Given the description of an element on the screen output the (x, y) to click on. 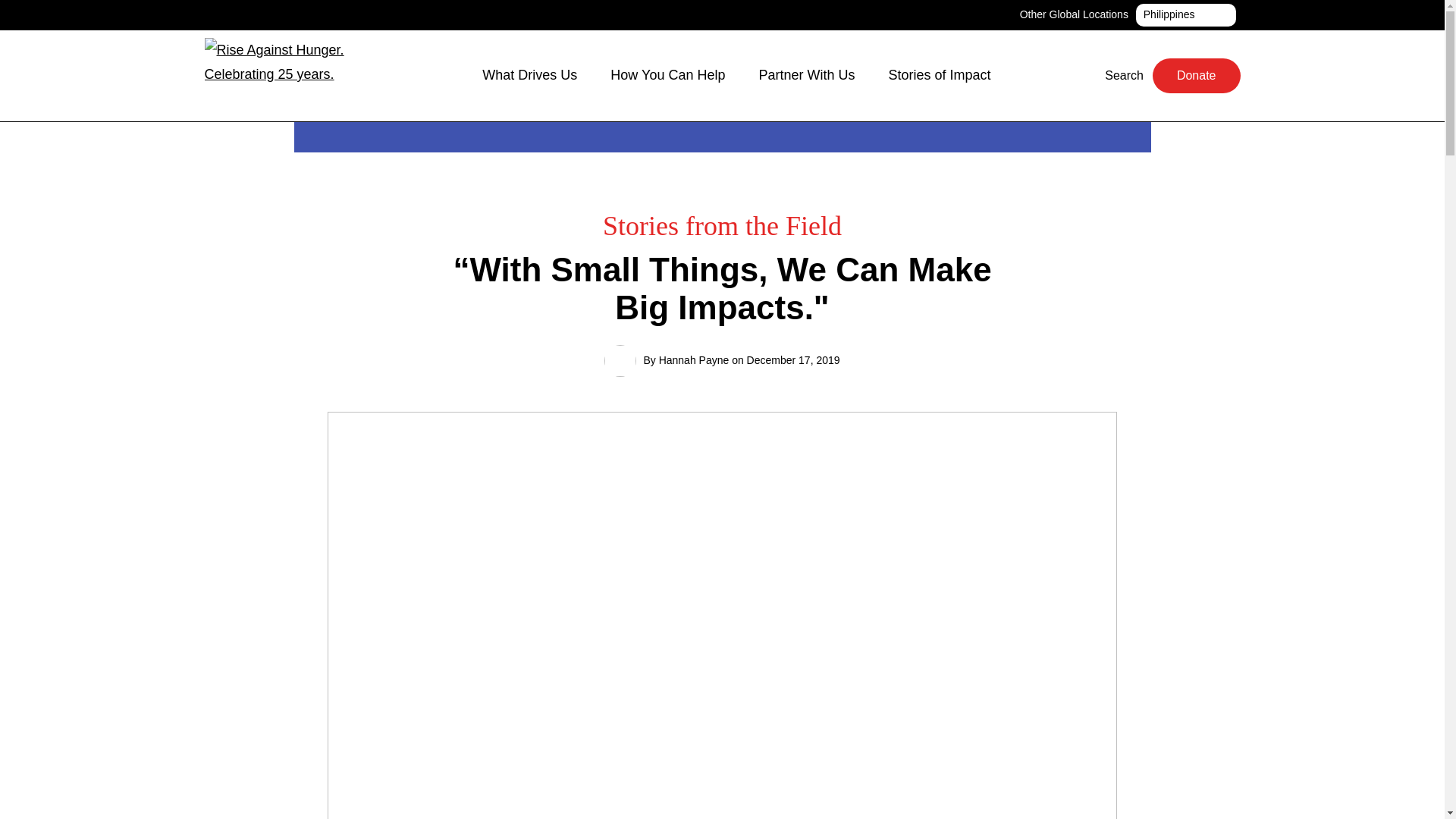
  Search (1114, 75)
What Drives Us (536, 75)
How You Can Help (674, 75)
Donate (1185, 15)
Partner With Us (1196, 75)
Rise Against Hunger homepage (813, 75)
Stories of Impact (292, 75)
